Given the description of an element on the screen output the (x, y) to click on. 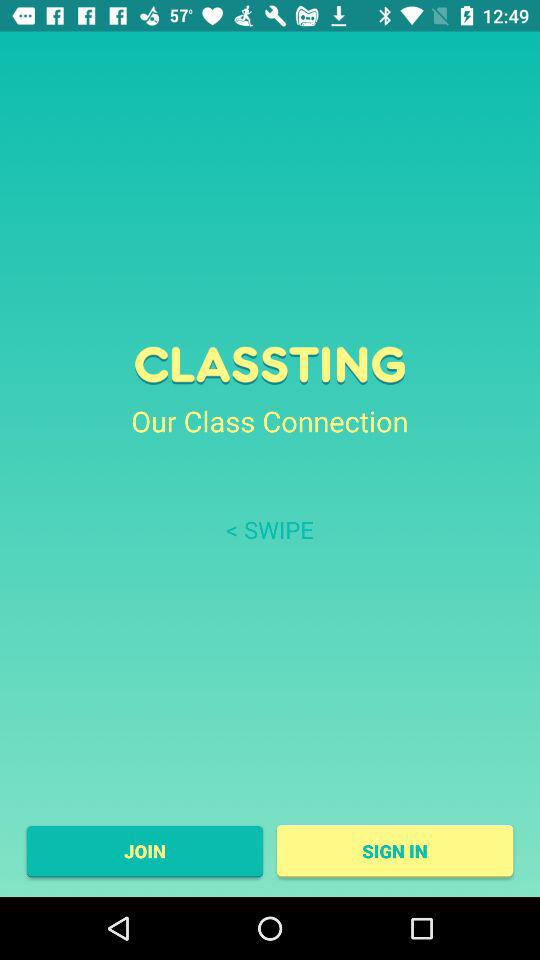
launch join icon (144, 851)
